Given the description of an element on the screen output the (x, y) to click on. 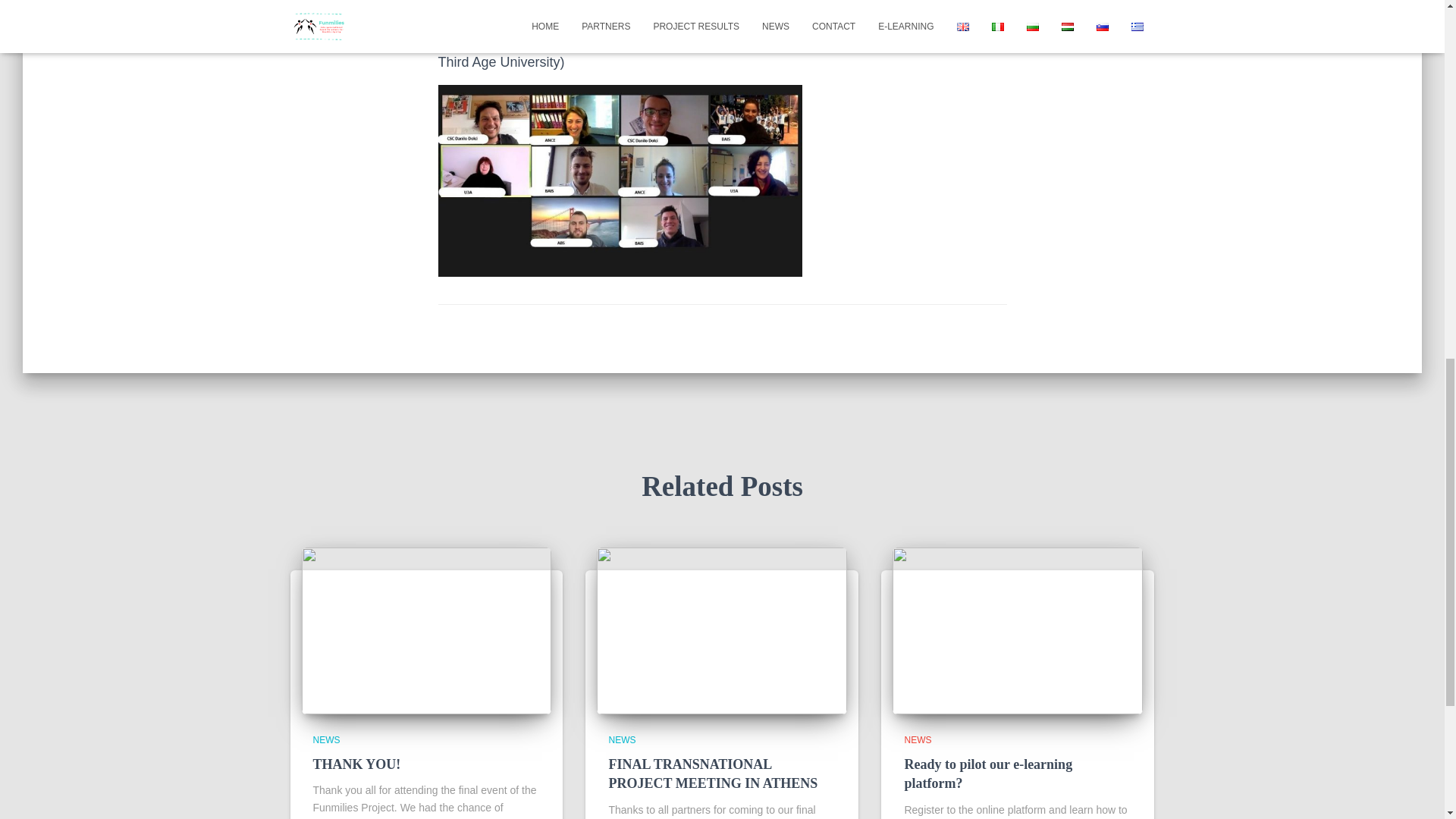
View all posts in news (917, 739)
THANK YOU! (426, 630)
FINAL TRANSNATIONAL PROJECT MEETING IN ATHENS (712, 773)
NEWS (621, 739)
Ready to pilot our e-learning platform? (987, 773)
NEWS (917, 739)
NEWS (326, 739)
FINAL TRANSNATIONAL PROJECT MEETING IN ATHENS (721, 630)
Ready to pilot our e-learning platform? (1017, 630)
THANK YOU! (356, 764)
